Given the description of an element on the screen output the (x, y) to click on. 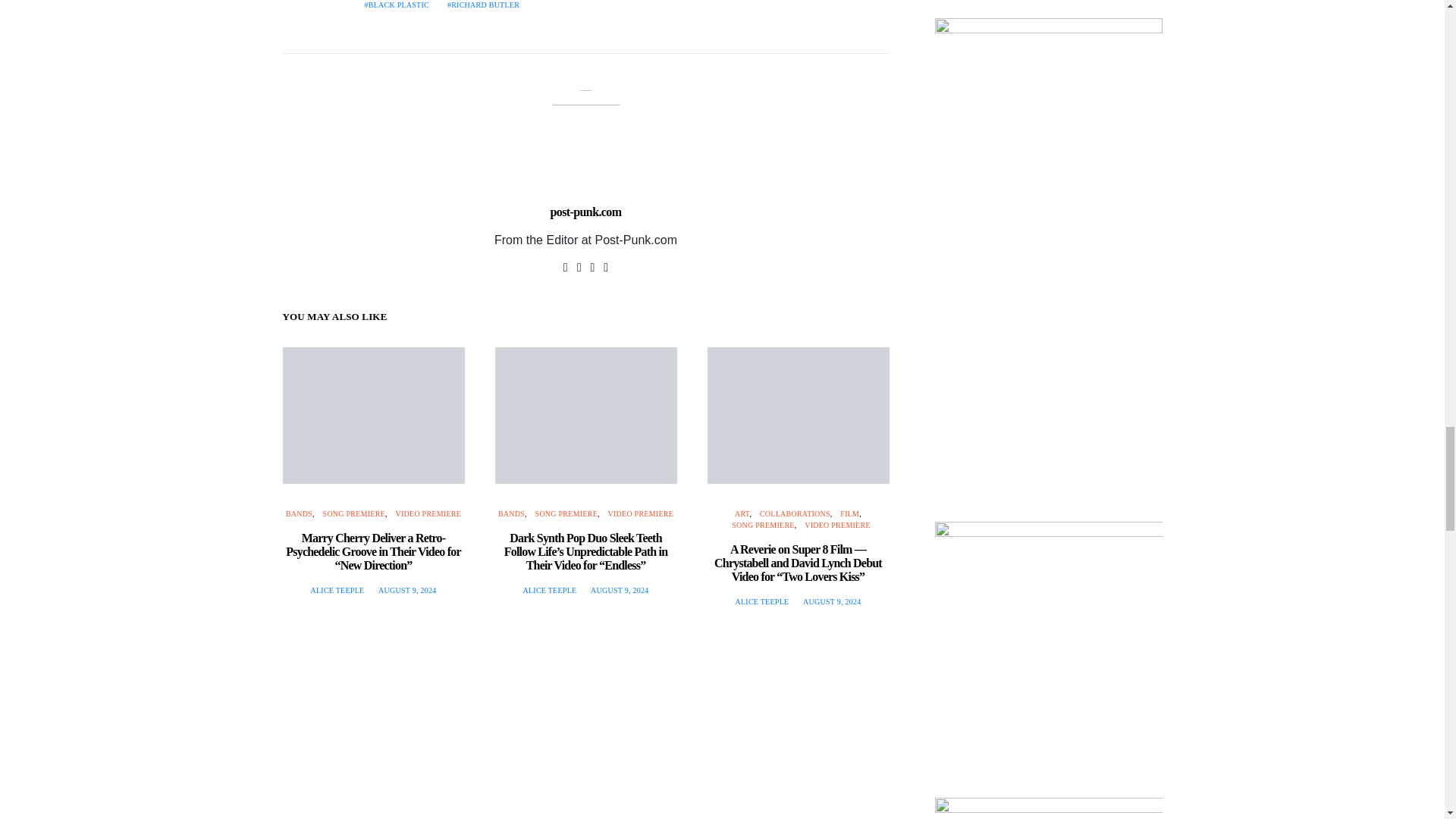
View all posts by Alice Teeple (549, 590)
View all posts by Alice Teeple (337, 590)
View all posts by Alice Teeple (762, 601)
